Given the description of an element on the screen output the (x, y) to click on. 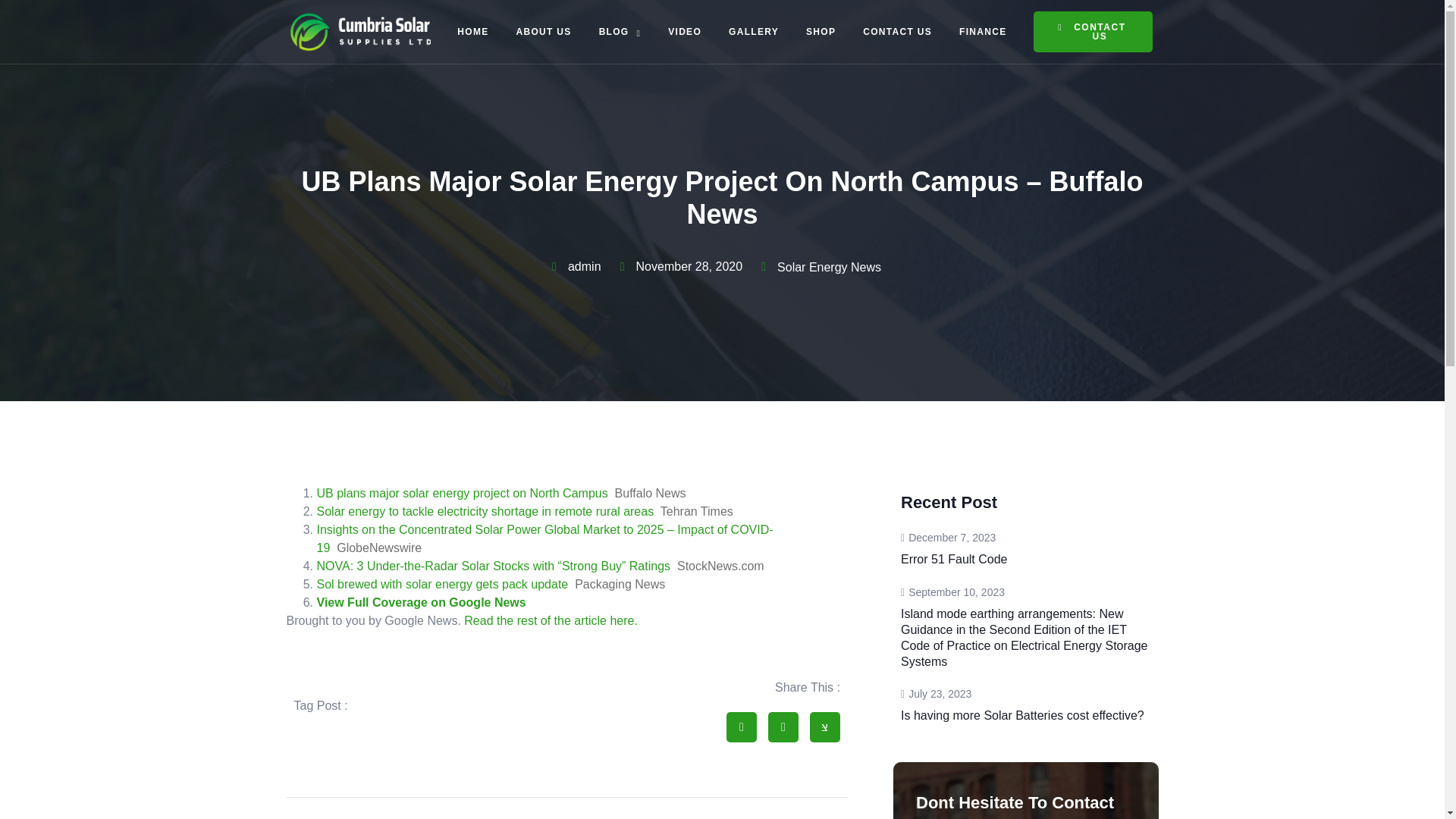
Sol brewed with solar energy gets pack update (443, 584)
SHOP (820, 31)
ABOUT US (543, 31)
BLOG (1022, 703)
FINANCE (620, 31)
HOME (982, 31)
View Full Coverage on Google News (473, 31)
CONTACT US (421, 602)
VIDEO (896, 31)
UB plans major solar energy project on North Campus (683, 31)
Read the rest of the article here. (462, 492)
